Given the description of an element on the screen output the (x, y) to click on. 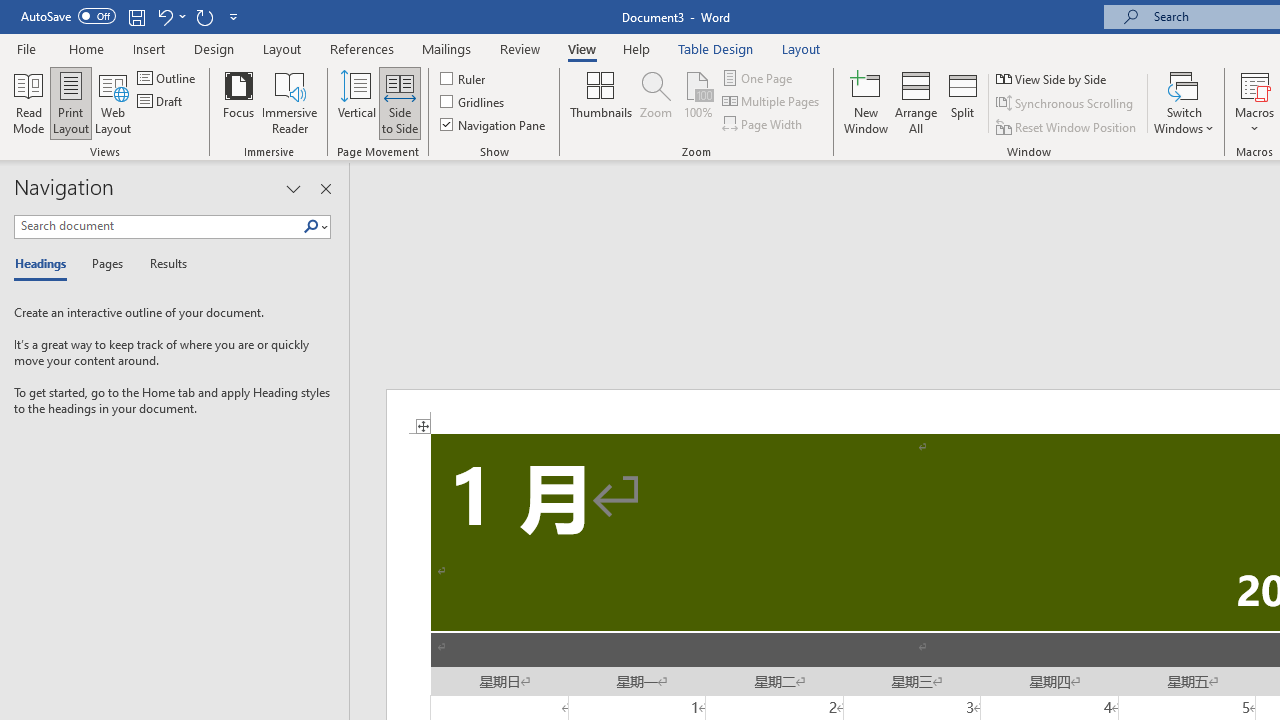
Immersive Reader (289, 102)
Synchronous Scrolling (1066, 103)
Vertical (356, 102)
New Window (866, 102)
Outline (168, 78)
Pages (105, 264)
Side to Side (399, 102)
Macros (1254, 102)
Switch Windows (1184, 102)
Focus (238, 102)
Undo Increase Indent (164, 15)
